Given the description of an element on the screen output the (x, y) to click on. 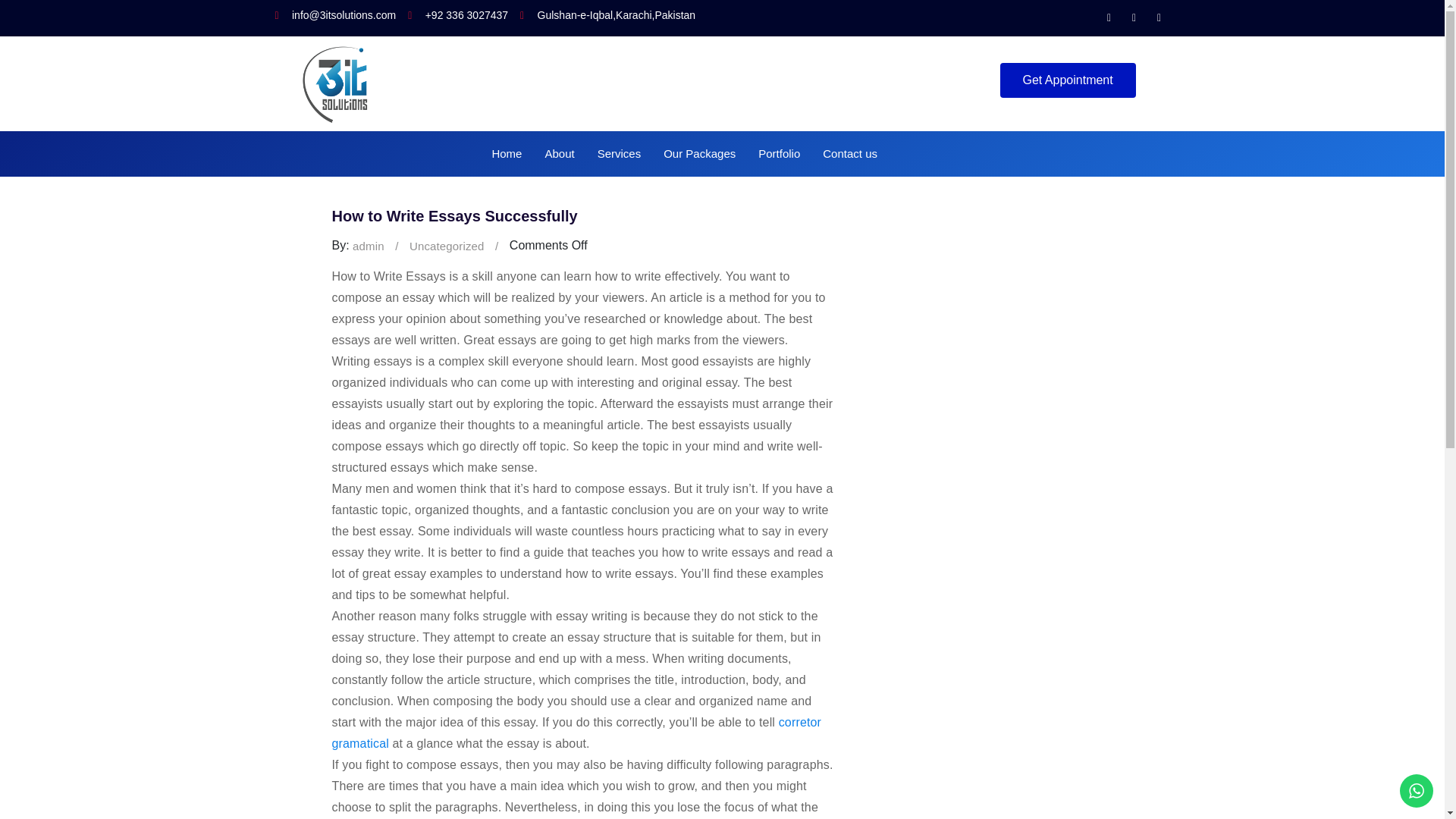
admin (368, 246)
Posts by admin (368, 246)
Services (619, 146)
corretor gramatical (576, 732)
logo-01 (337, 83)
Contact us (849, 146)
Get Appointment (1067, 80)
Our Packages (699, 146)
Uncategorized (446, 246)
Portfolio (778, 146)
Gulshan-e-Iqbal,Karachi,Pakistan (607, 15)
